Given the description of an element on the screen output the (x, y) to click on. 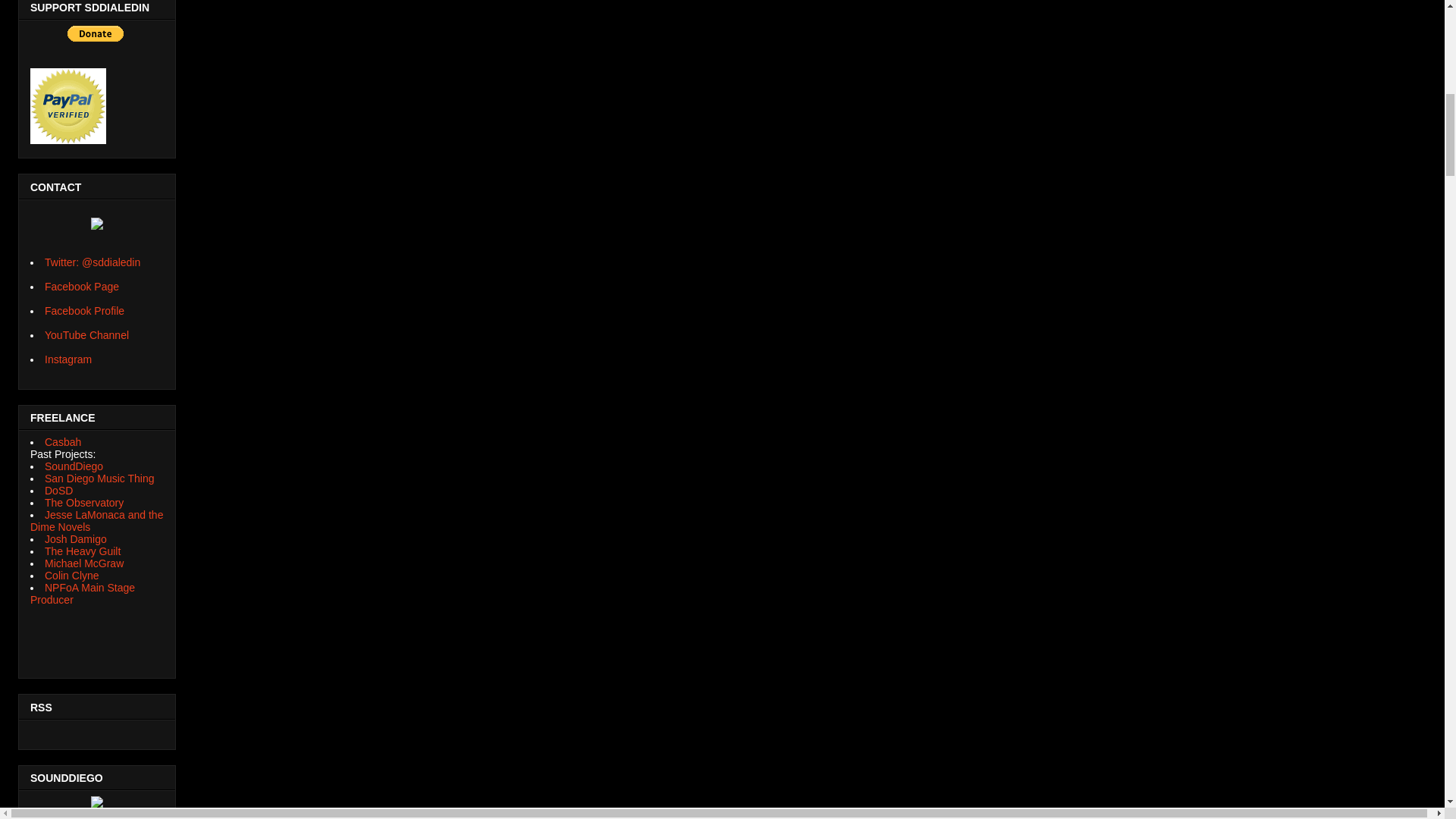
The Heavy Guilt (82, 551)
Colin Clyne (72, 575)
Michael McGraw (84, 563)
DoSD (58, 490)
YouTube Channel (87, 335)
Josh Damigo (75, 539)
Facebook Profile (84, 310)
Jesse LaMonaca and the Dime Novels (96, 520)
San Diego Music Thing (99, 478)
The Observatory (84, 502)
PayPal - The safer, easier way to pay online! (94, 33)
Facebook Page (82, 286)
Instagram (68, 358)
SoundDiego (74, 466)
Casbah (63, 441)
